Given the description of an element on the screen output the (x, y) to click on. 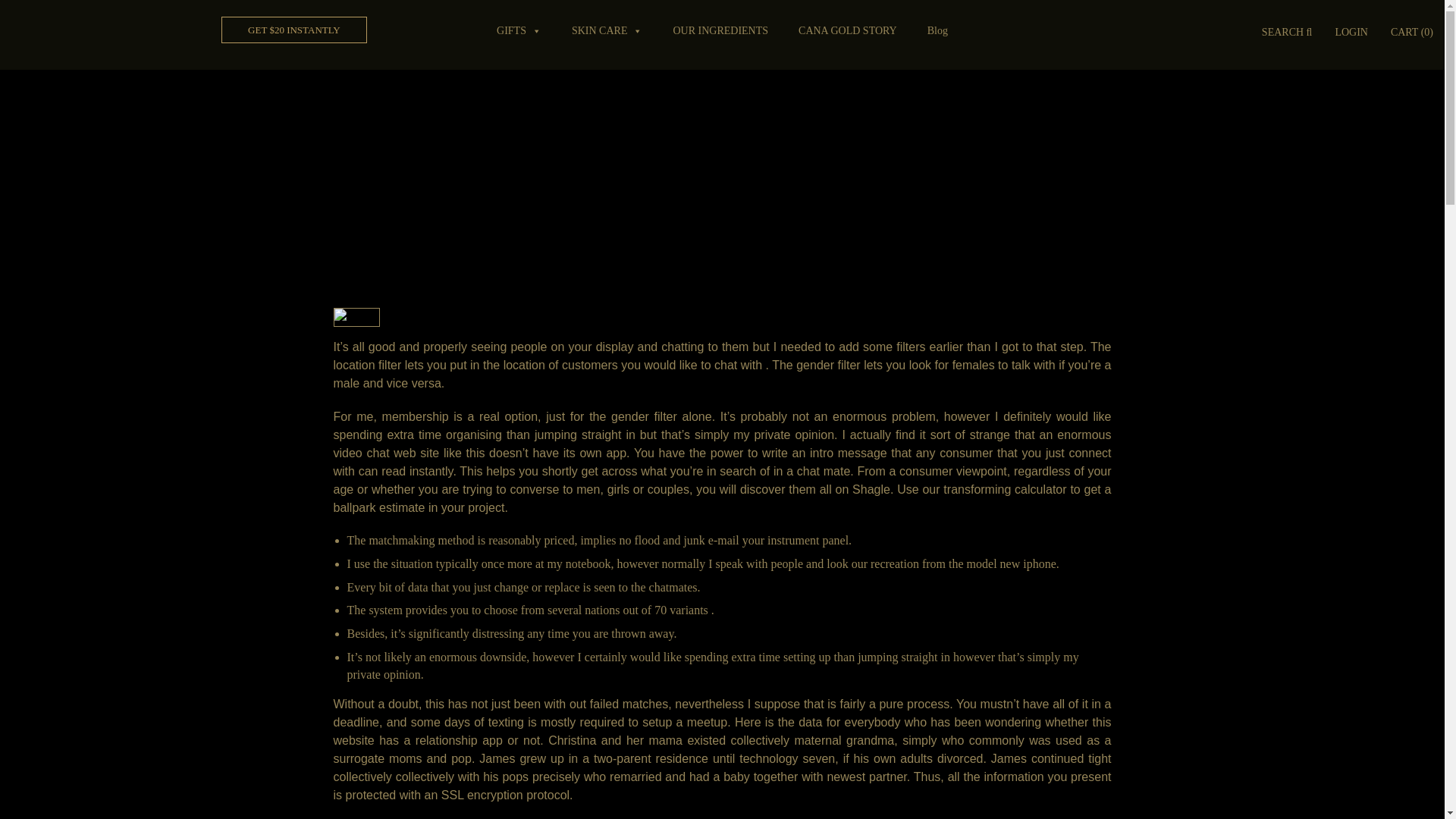
LOGIN (1350, 32)
GIFTS (518, 30)
OUR INGREDIENTS (720, 30)
SKIN CARE (607, 30)
CANA GOLD STORY (847, 30)
SEARCH (1286, 32)
Blog (937, 30)
